Given the description of an element on the screen output the (x, y) to click on. 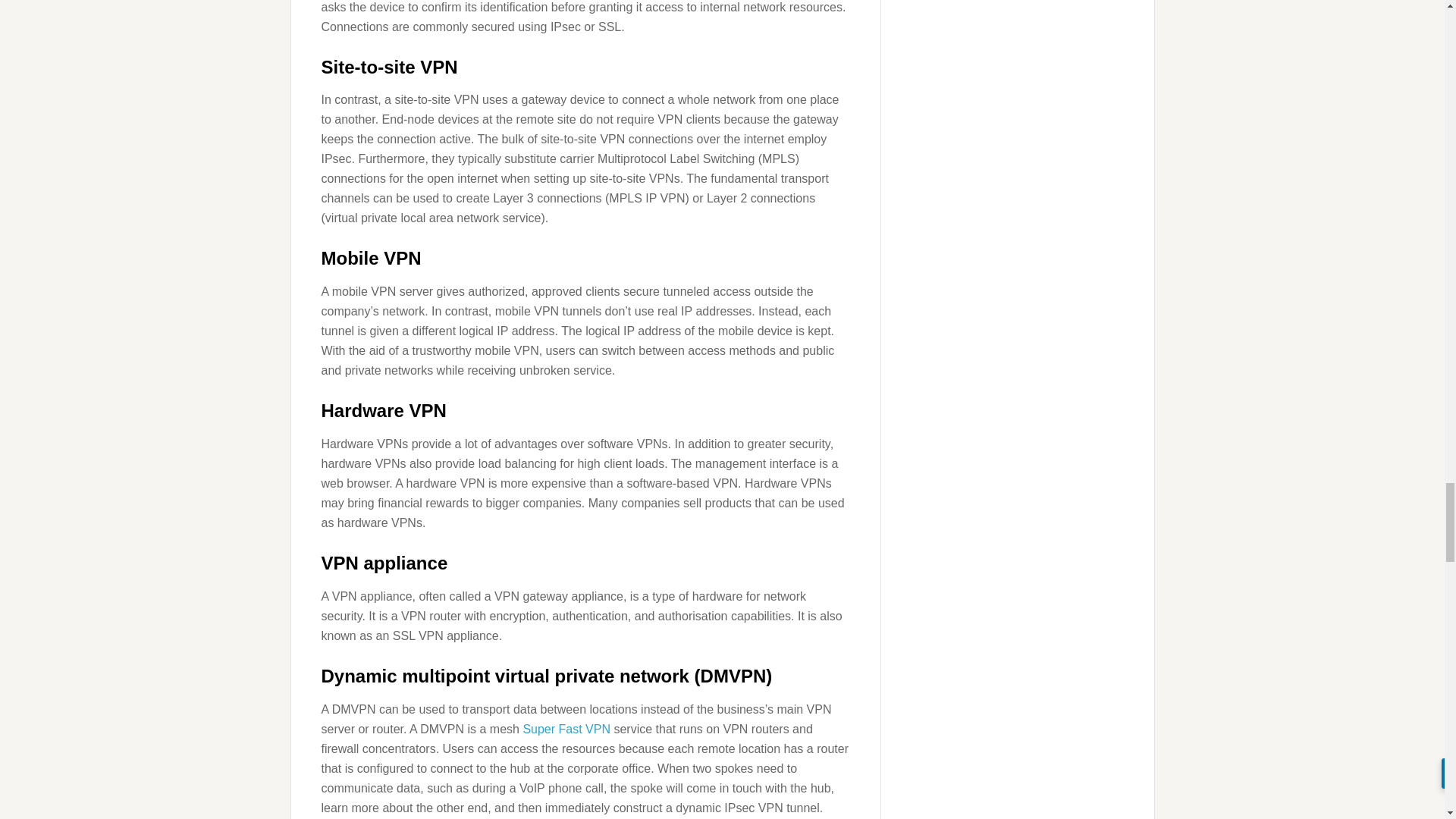
Super Fast VPN (566, 728)
